Given the description of an element on the screen output the (x, y) to click on. 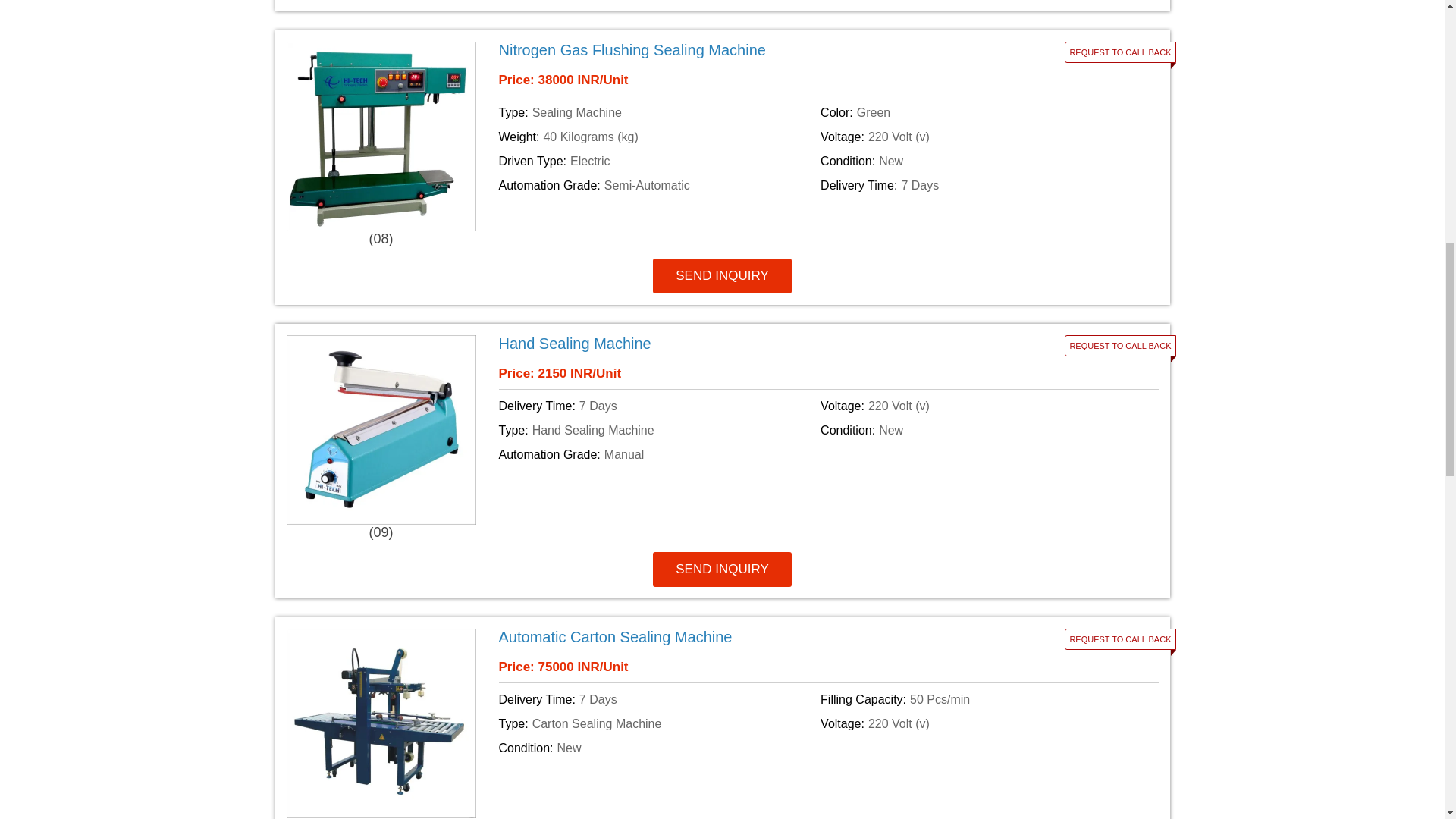
Automation Grade: Semi-Automatic (657, 185)
Type: Sealing Machine (657, 113)
Driven Type: Electric (657, 161)
Color: Green (979, 113)
Nitrogen Gas Flushing Sealing Machine (716, 49)
Condition: New (979, 161)
